Given the description of an element on the screen output the (x, y) to click on. 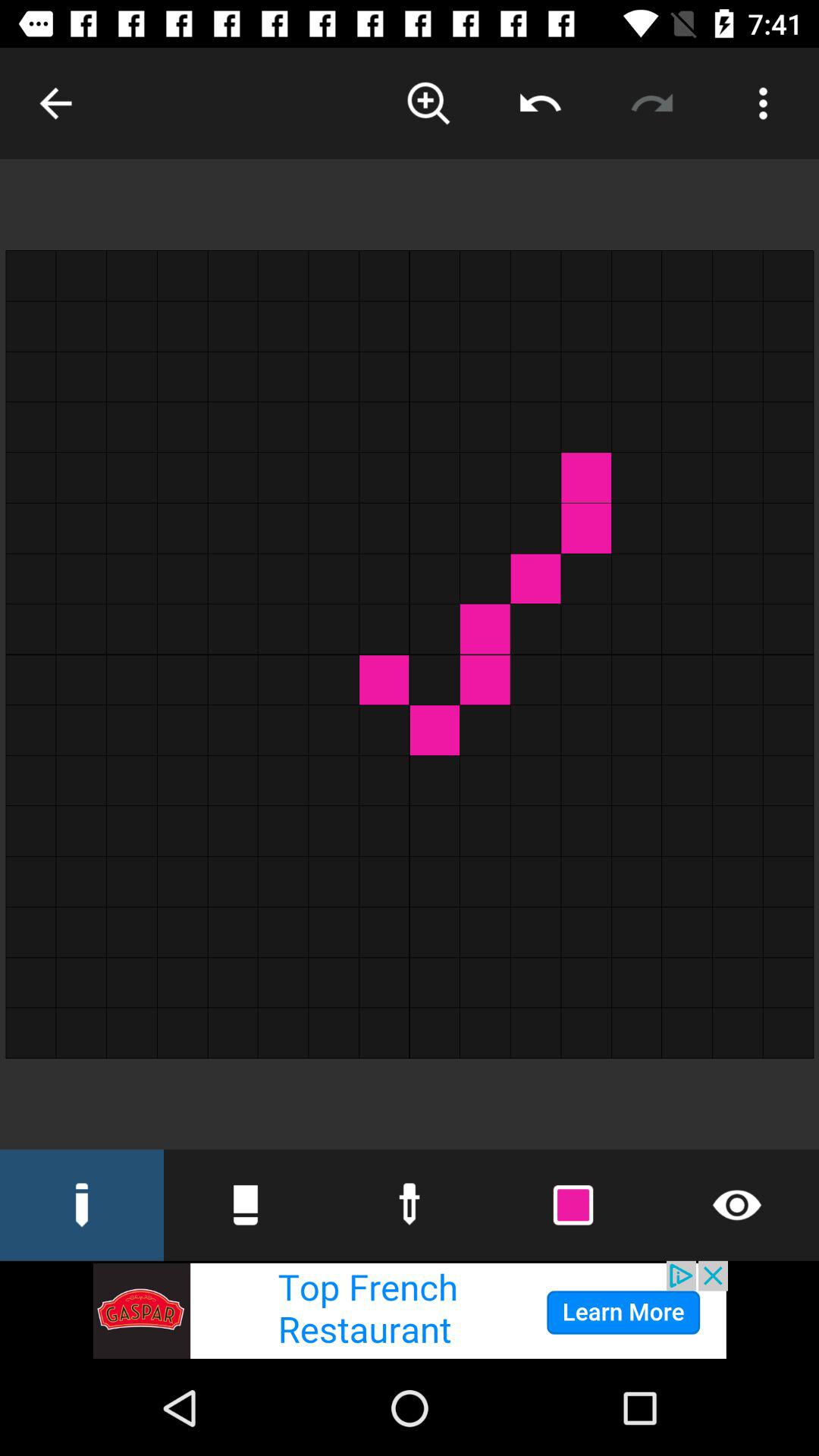
go to the previous (55, 103)
